Given the description of an element on the screen output the (x, y) to click on. 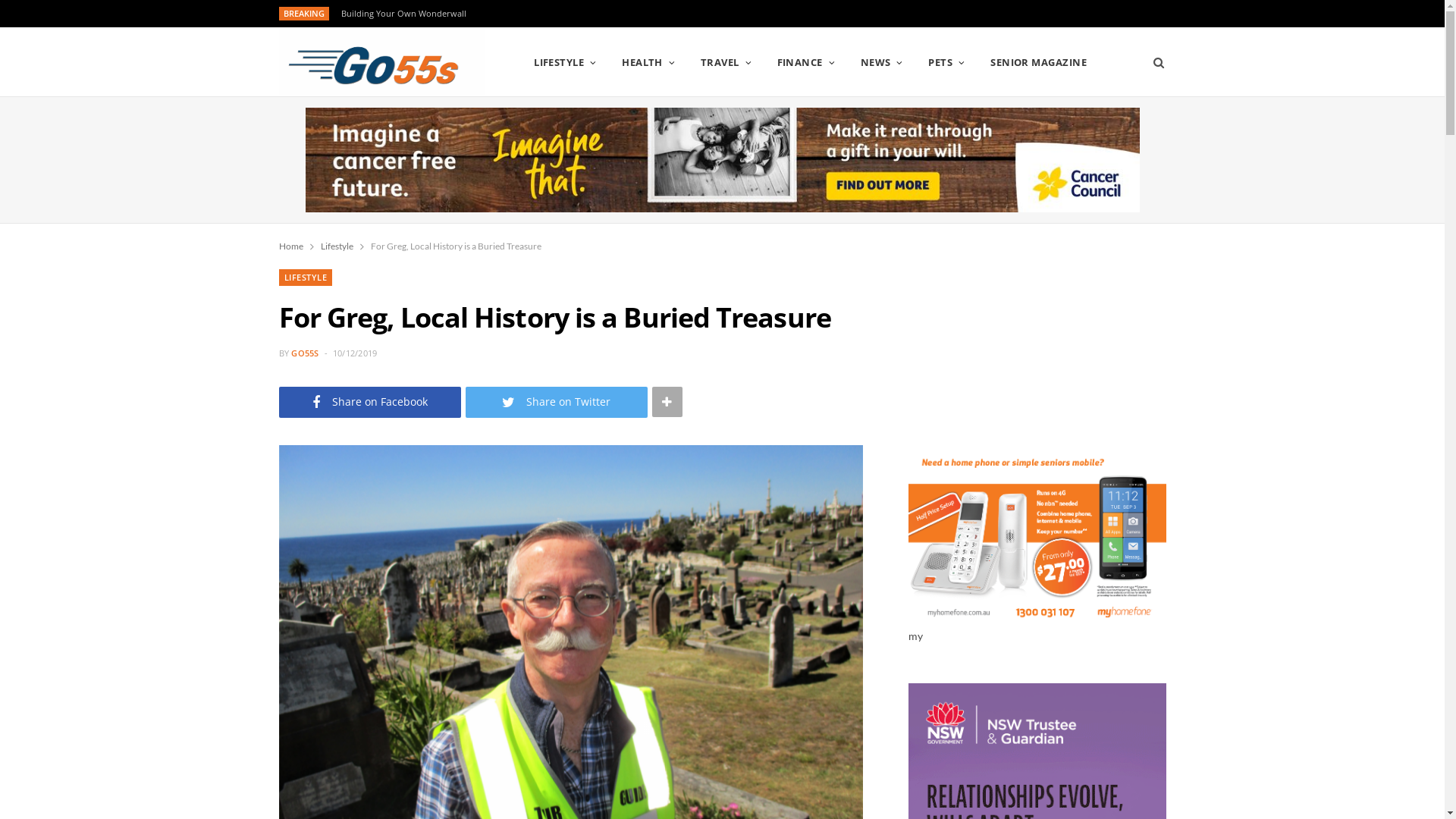
TRAVEL Element type: text (725, 62)
FINANCE Element type: text (806, 62)
Share on Twitter Element type: text (556, 401)
LIFESTYLE Element type: text (565, 62)
Home Element type: text (291, 246)
HEALTH Element type: text (648, 62)
10/12/2019 Element type: text (354, 352)
Go55s Element type: hover (382, 62)
Search Element type: hover (1153, 62)
LIFESTYLE Element type: text (305, 277)
Lifestyle Element type: text (336, 246)
Share on Facebook Element type: text (370, 401)
GO55S Element type: text (304, 352)
NEWS Element type: text (881, 62)
PETS Element type: text (945, 62)
SENIOR MAGAZINE Element type: text (1038, 62)
Things to do in self-isolation or quarantine Element type: text (429, 13)
